Given the description of an element on the screen output the (x, y) to click on. 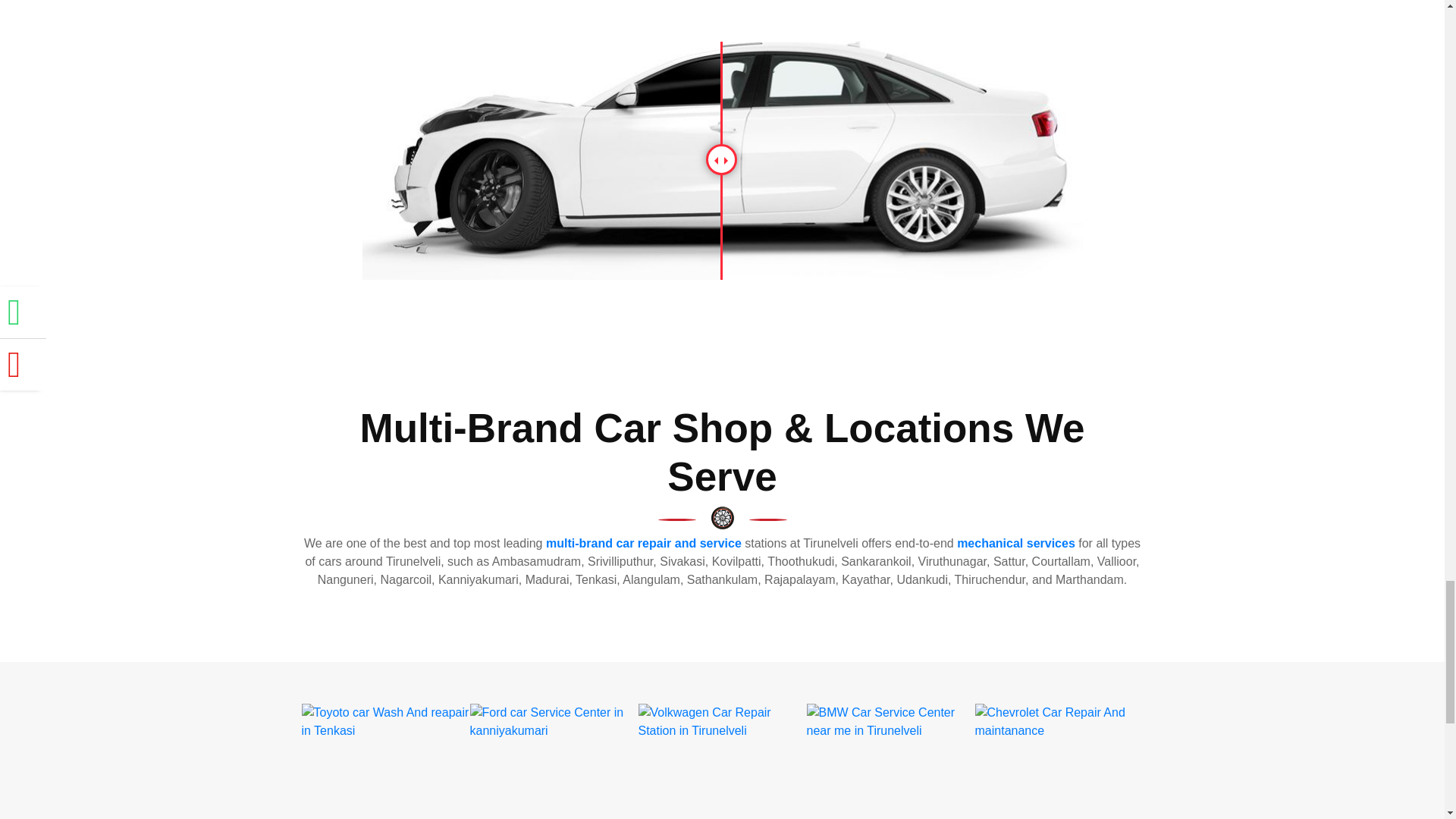
multi-brand car repair and service (643, 543)
mechanical services (1015, 543)
